Given the description of an element on the screen output the (x, y) to click on. 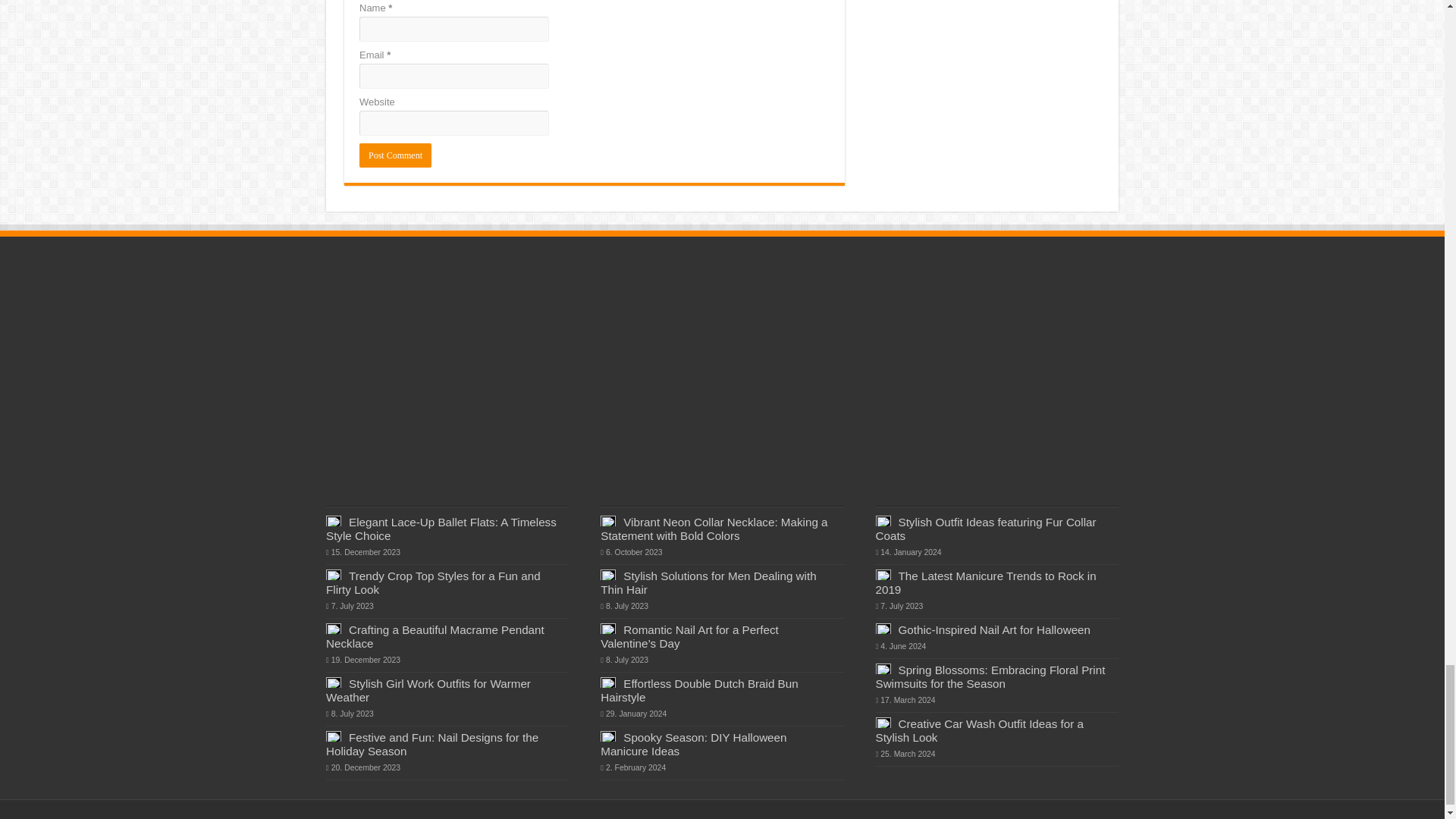
Post Comment (394, 155)
Festive and Fun: Nail Designs for the Holiday Season (432, 744)
Crafting a Beautiful Macrame Pendant Necklace (435, 636)
Elegant Lace-Up Ballet Flats: A Timeless Style Choice (441, 528)
Stylish Girl Work Outfits for Warmer Weather (428, 690)
Post Comment (394, 155)
Trendy Crop Top Styles for a Fun and Flirty Look (433, 582)
Stylish Solutions for Men Dealing with Thin Hair (707, 582)
